Given the description of an element on the screen output the (x, y) to click on. 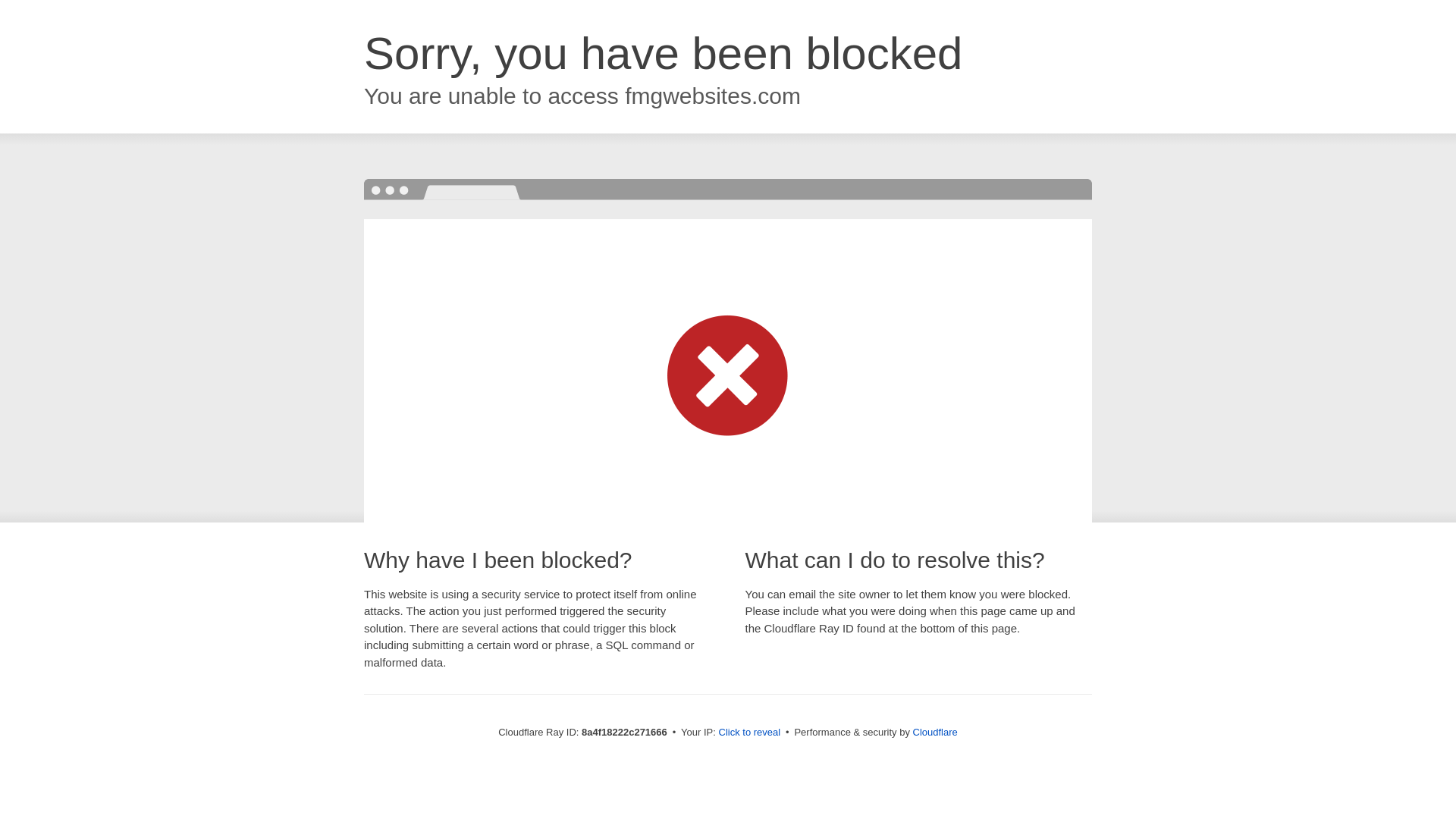
Cloudflare (935, 731)
Click to reveal (749, 732)
